Given the description of an element on the screen output the (x, y) to click on. 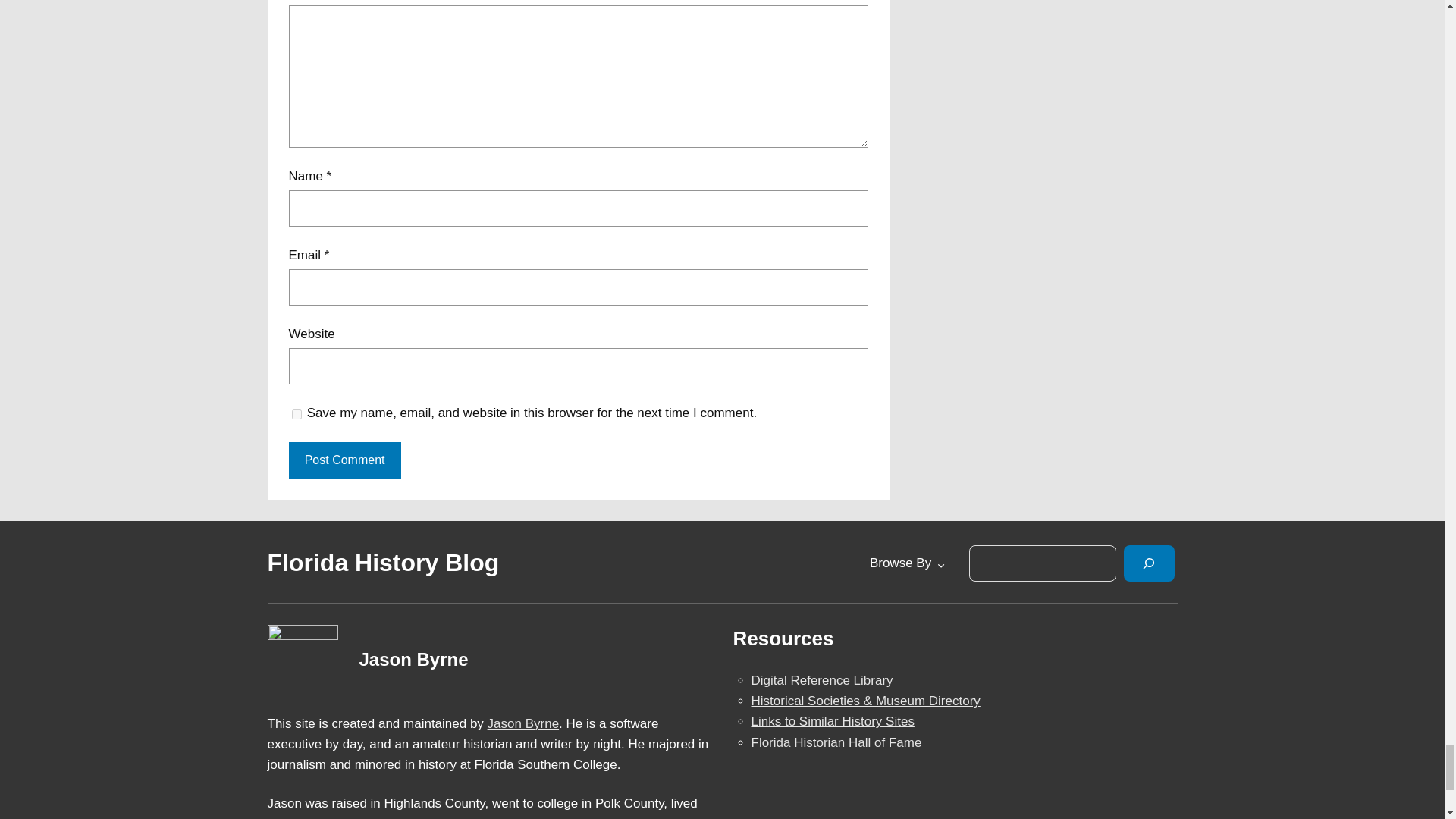
Post Comment (344, 460)
